Given the description of an element on the screen output the (x, y) to click on. 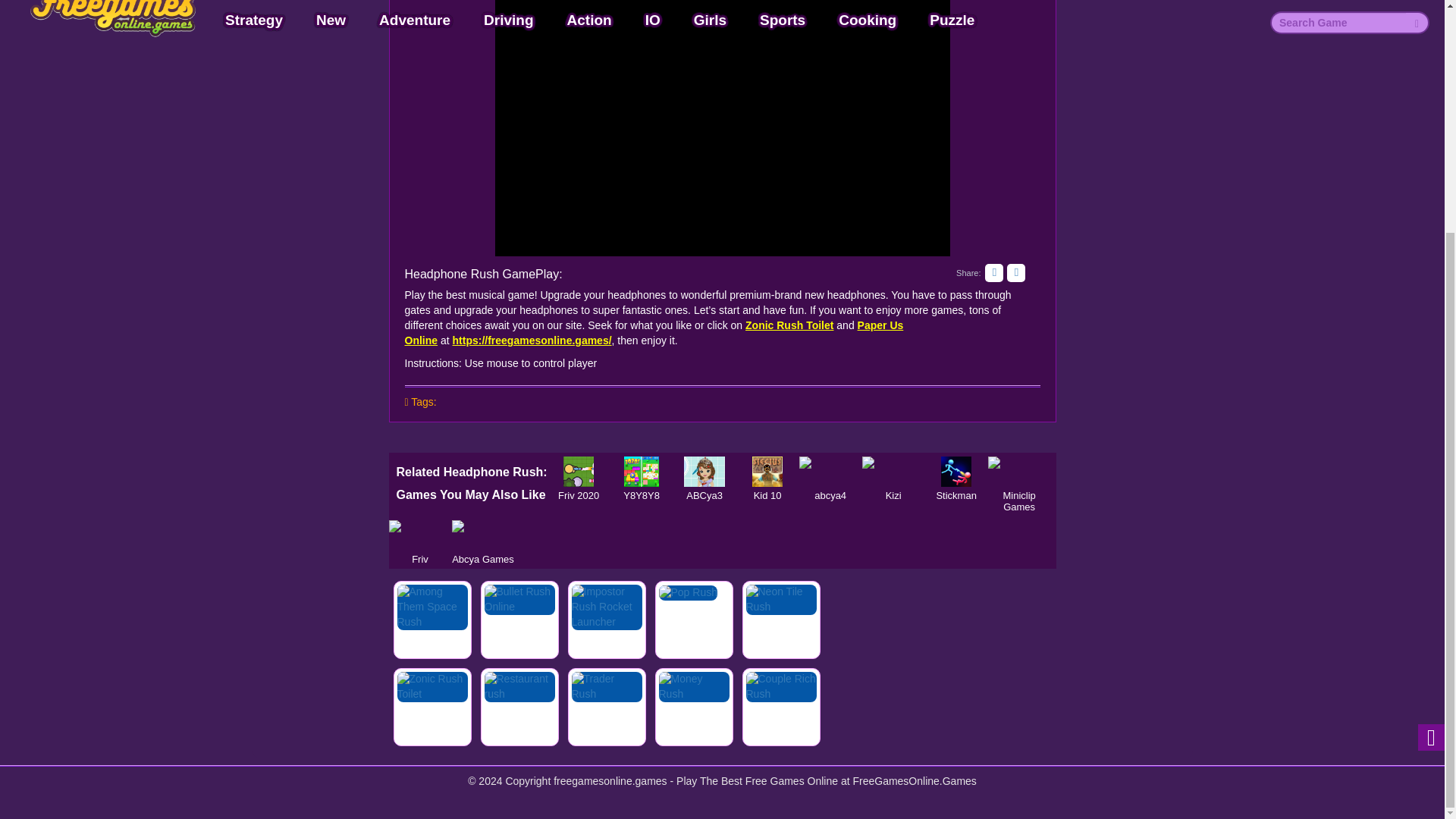
Abcya Games (483, 535)
Zonic Rush Toilet (788, 325)
Friv 2020 (578, 471)
ABCya3 (704, 471)
abcya4 (830, 471)
Y8Y8Y8 (641, 471)
Miniclip Games (1019, 471)
Friv (419, 535)
Y8Y8Y8 (641, 471)
Paper Us Online (654, 332)
